Given the description of an element on the screen output the (x, y) to click on. 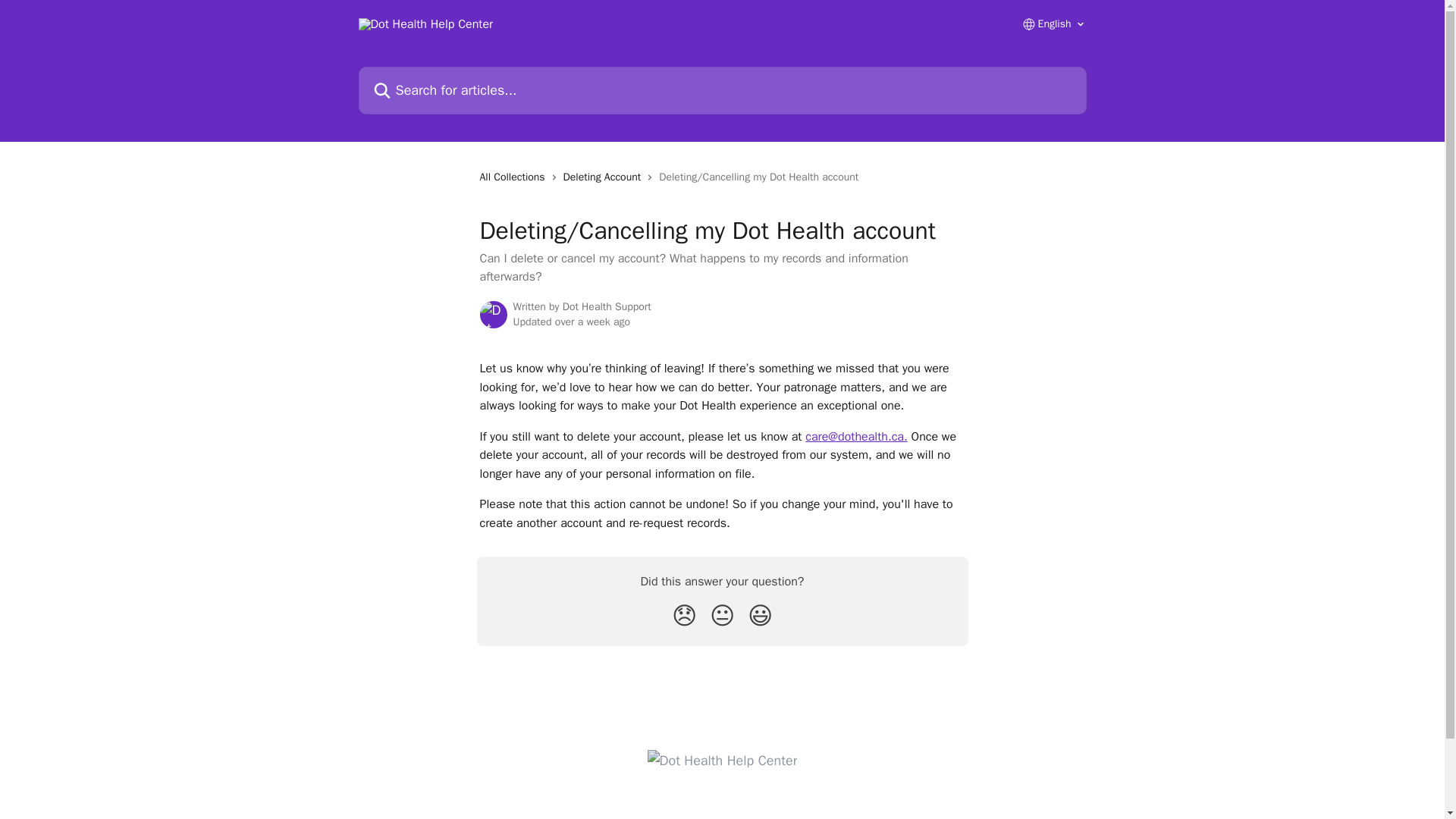
All Collections (514, 176)
Neutral (722, 615)
Smiley (760, 615)
Disappointed (684, 615)
Deleting Account (605, 176)
